Given the description of an element on the screen output the (x, y) to click on. 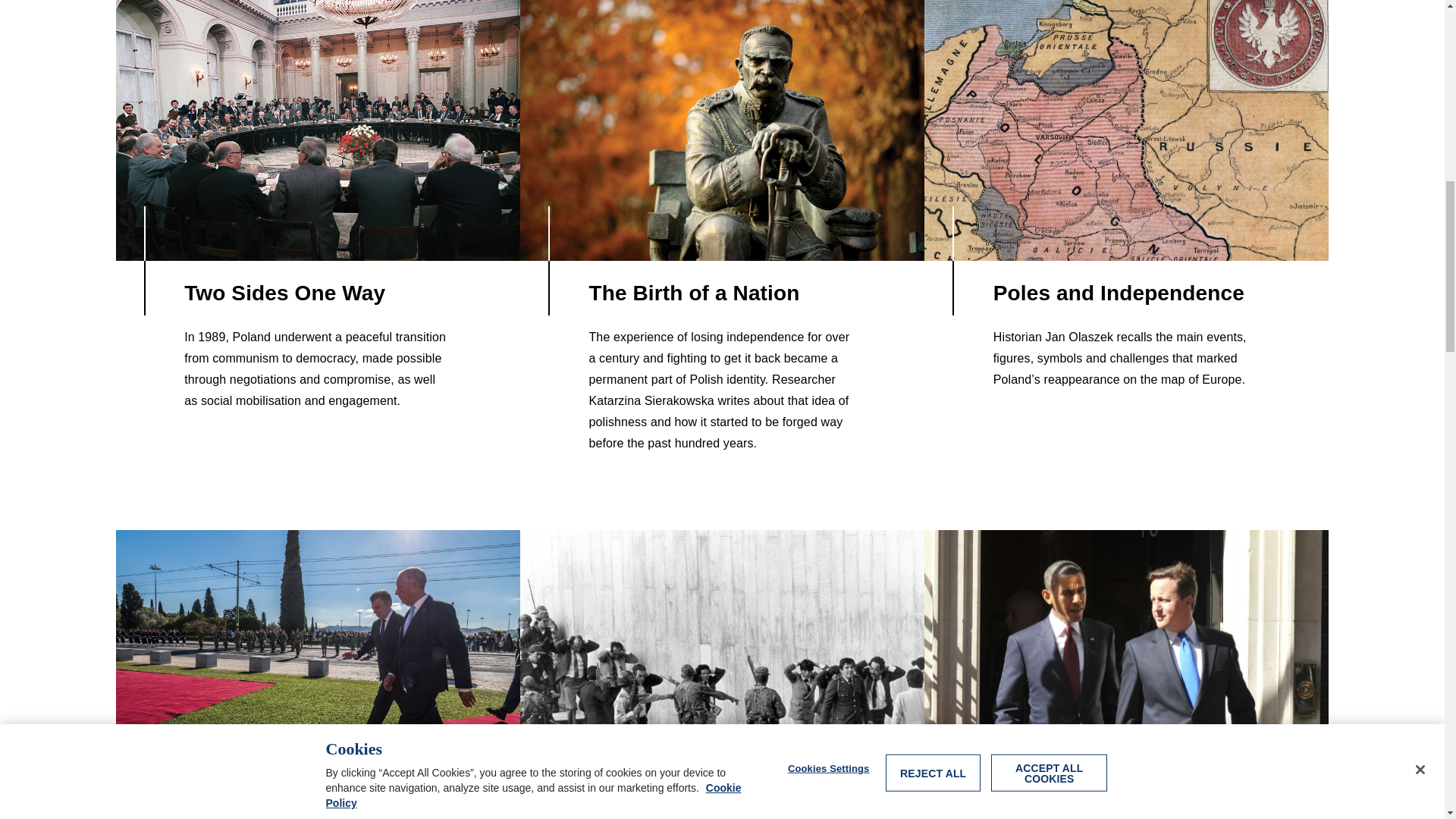
The Birth of a Nation (721, 130)
The Post-Conflict: Challenges and opportunities for Colombia (721, 666)
Walking side by side (317, 666)
Flexibility: The main Challenge of the EU (1125, 666)
Poles and Independence (1125, 130)
Two Sides One Way (317, 130)
